Given the description of an element on the screen output the (x, y) to click on. 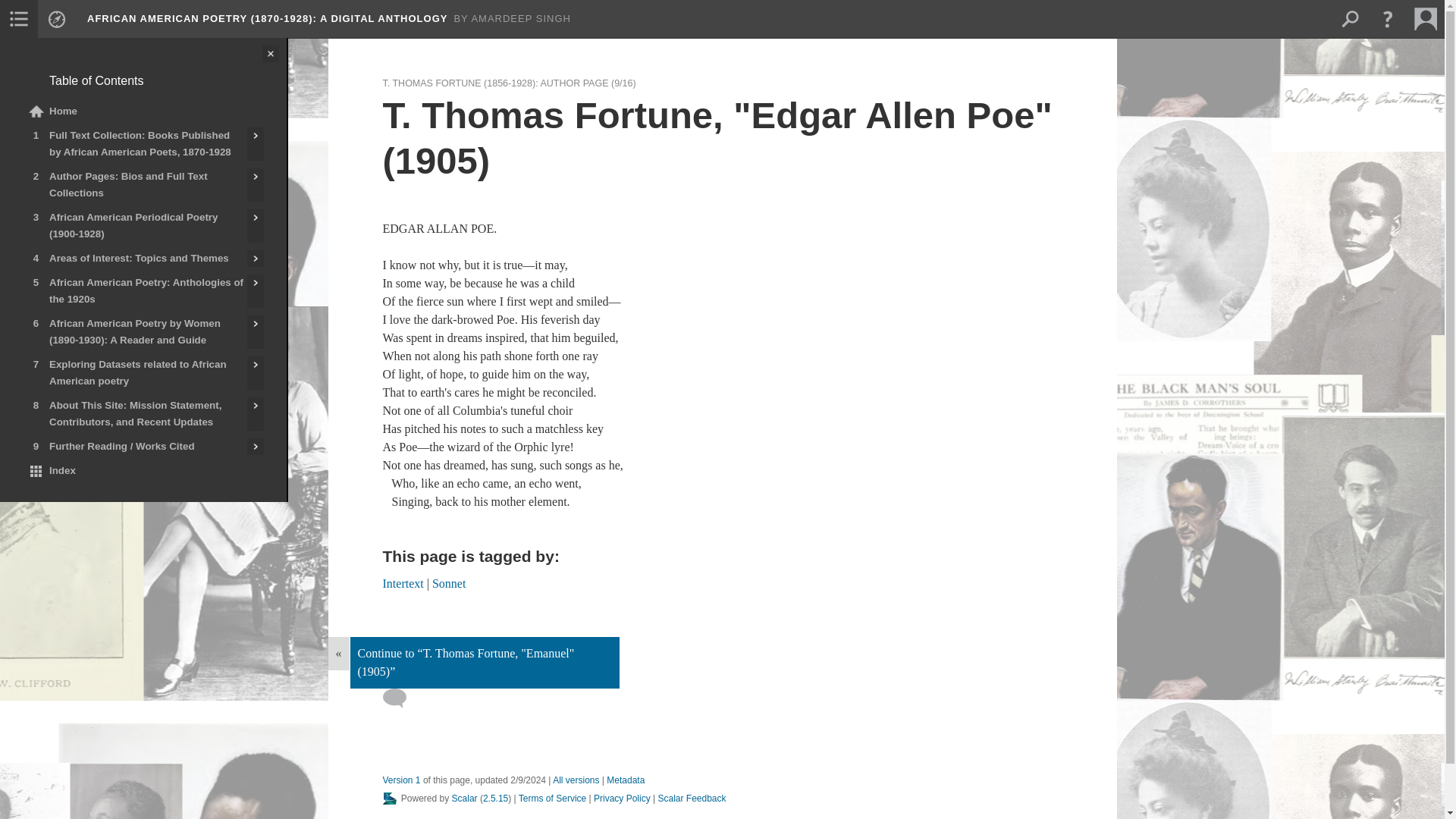
Help button. Click to toggle help info. (1387, 18)
Go to permalink (400, 779)
Search button. Click to open search field. (1349, 18)
Exploring Datasets related to African American poetry (133, 372)
Index (143, 470)
Areas of Interest: Topics and Themes (133, 258)
African American Poetry: Anthologies of the 1920s (133, 290)
View all versions (575, 779)
Explore Areas of Interest: Topics and Themes (255, 258)
Home (143, 111)
View metadata for this page (626, 779)
Author Pages: Bios and Full Text Collections (133, 184)
